Given the description of an element on the screen output the (x, y) to click on. 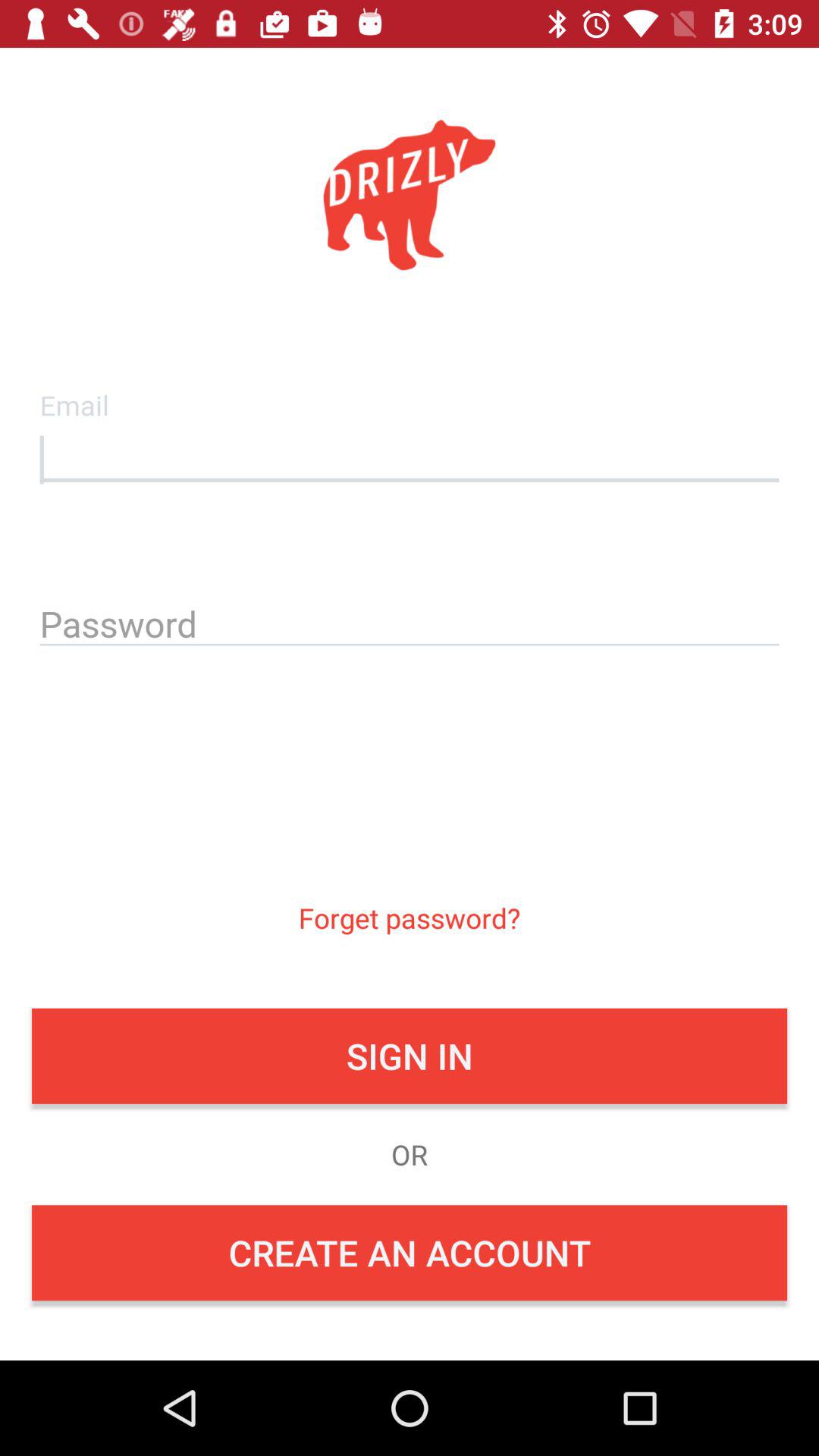
password enter box (409, 621)
